Given the description of an element on the screen output the (x, y) to click on. 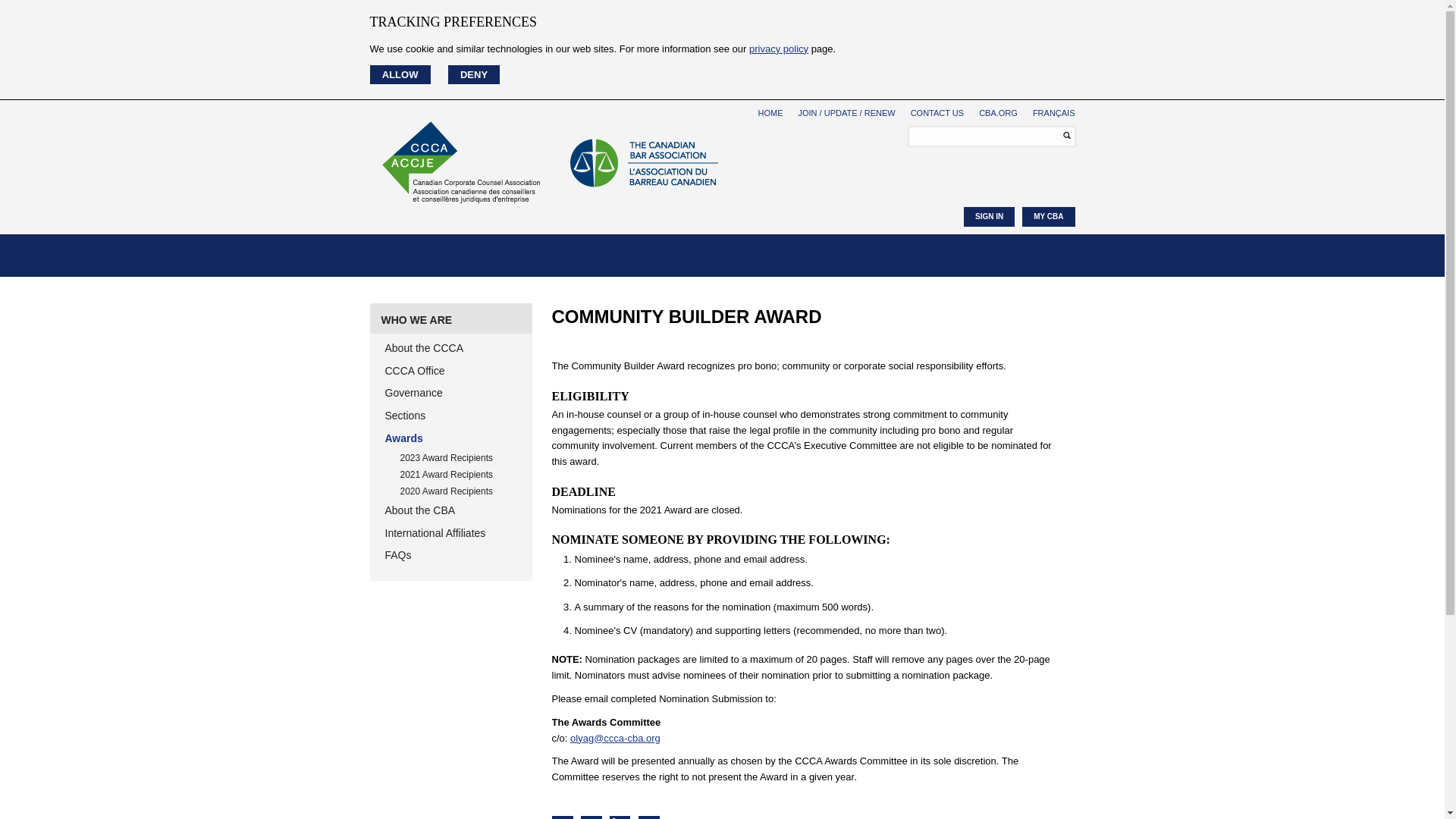
Search (1062, 135)
Search (1062, 135)
SIGN IN (988, 216)
privacy policy (778, 48)
MY CBA (1048, 216)
Deny (474, 74)
Allow (399, 74)
CBA.ORG (997, 112)
HOME (770, 112)
Deny (474, 74)
